Given the description of an element on the screen output the (x, y) to click on. 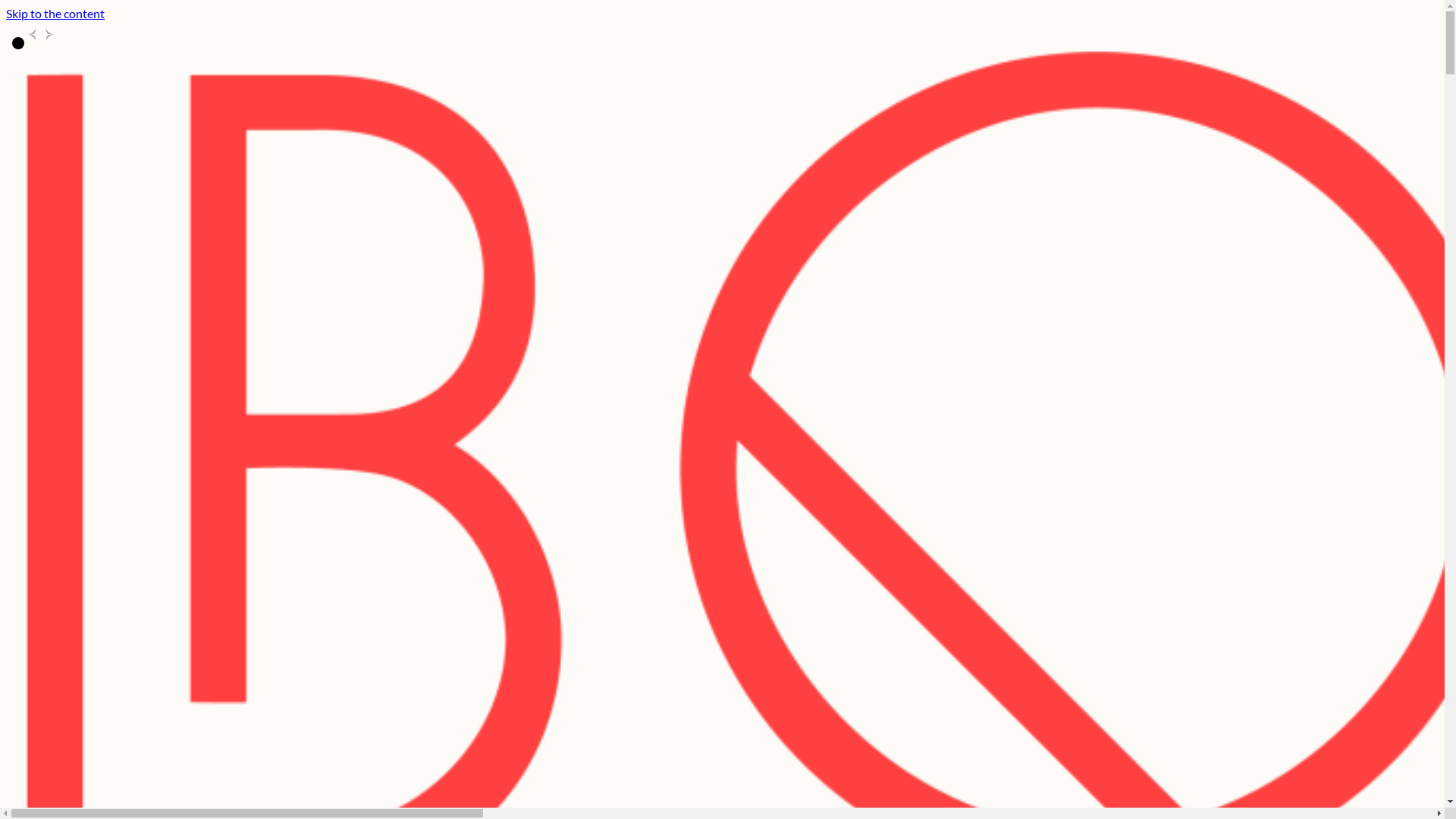
Skip to the content Element type: text (55, 13)
